Given the description of an element on the screen output the (x, y) to click on. 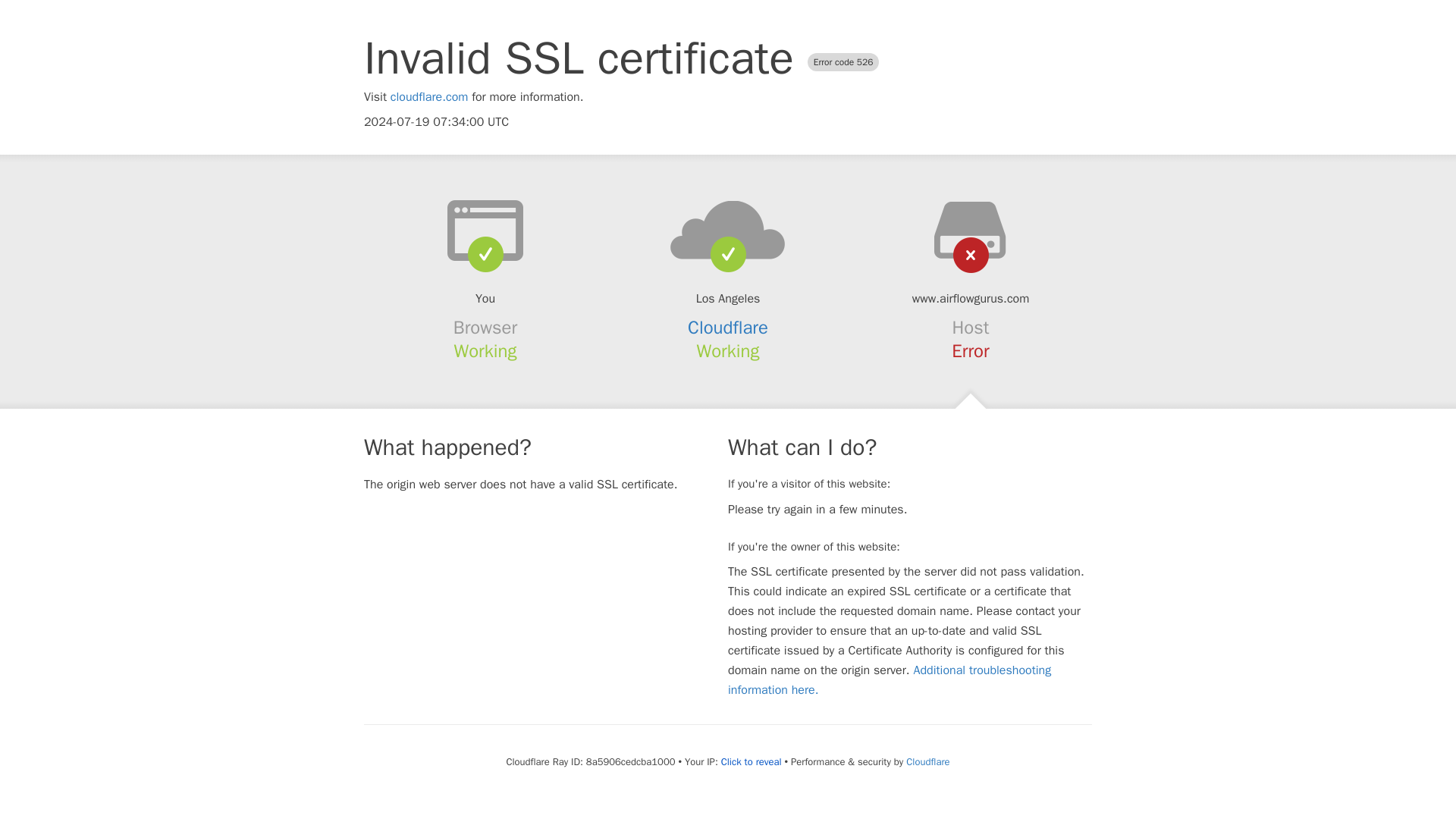
cloudflare.com (429, 96)
Additional troubleshooting information here. (889, 679)
Cloudflare (927, 761)
Click to reveal (750, 762)
Cloudflare (727, 327)
